Given the description of an element on the screen output the (x, y) to click on. 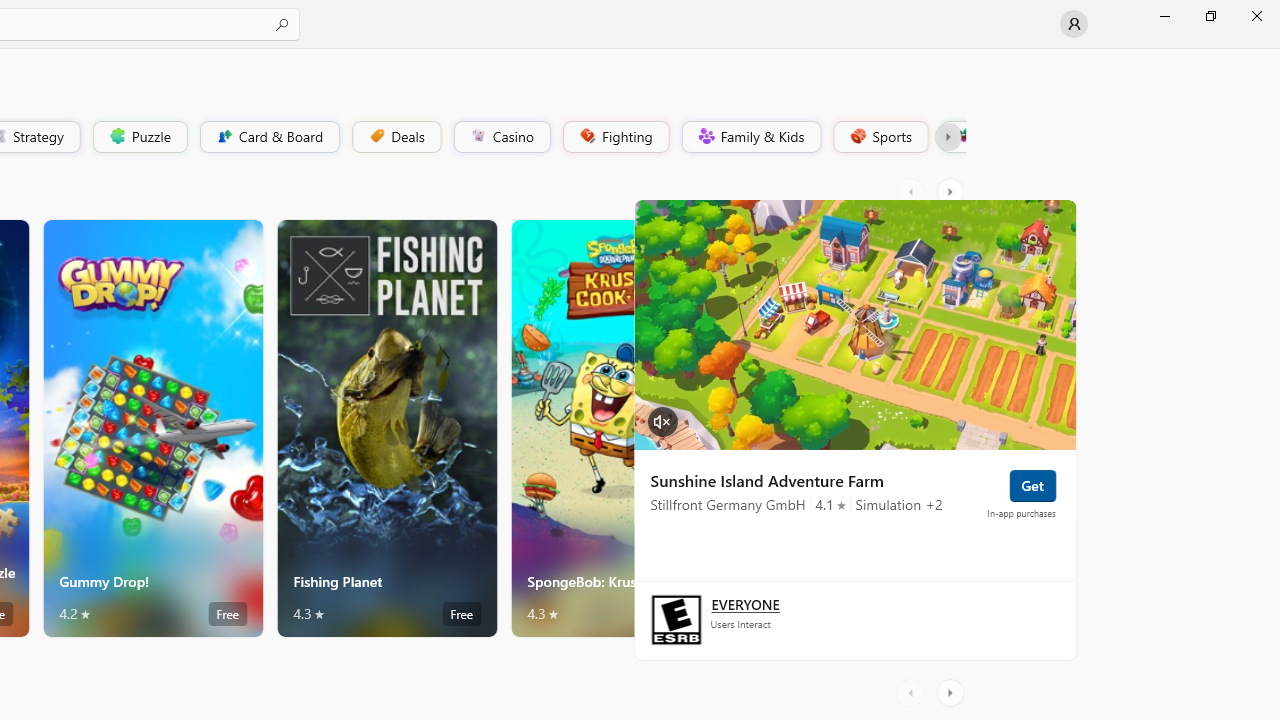
Age rating: EVERYONE. Click for more information. (744, 603)
AutomationID: RightScrollButton (952, 692)
AutomationID: Image (854, 323)
Family & Kids (750, 136)
Deals (395, 136)
Sports (879, 136)
Mute (662, 420)
Platformer (952, 136)
Casino (501, 136)
Class: Image (961, 136)
User profile (1073, 24)
Close Microsoft Store (1256, 15)
Puzzle (139, 136)
